Given the description of an element on the screen output the (x, y) to click on. 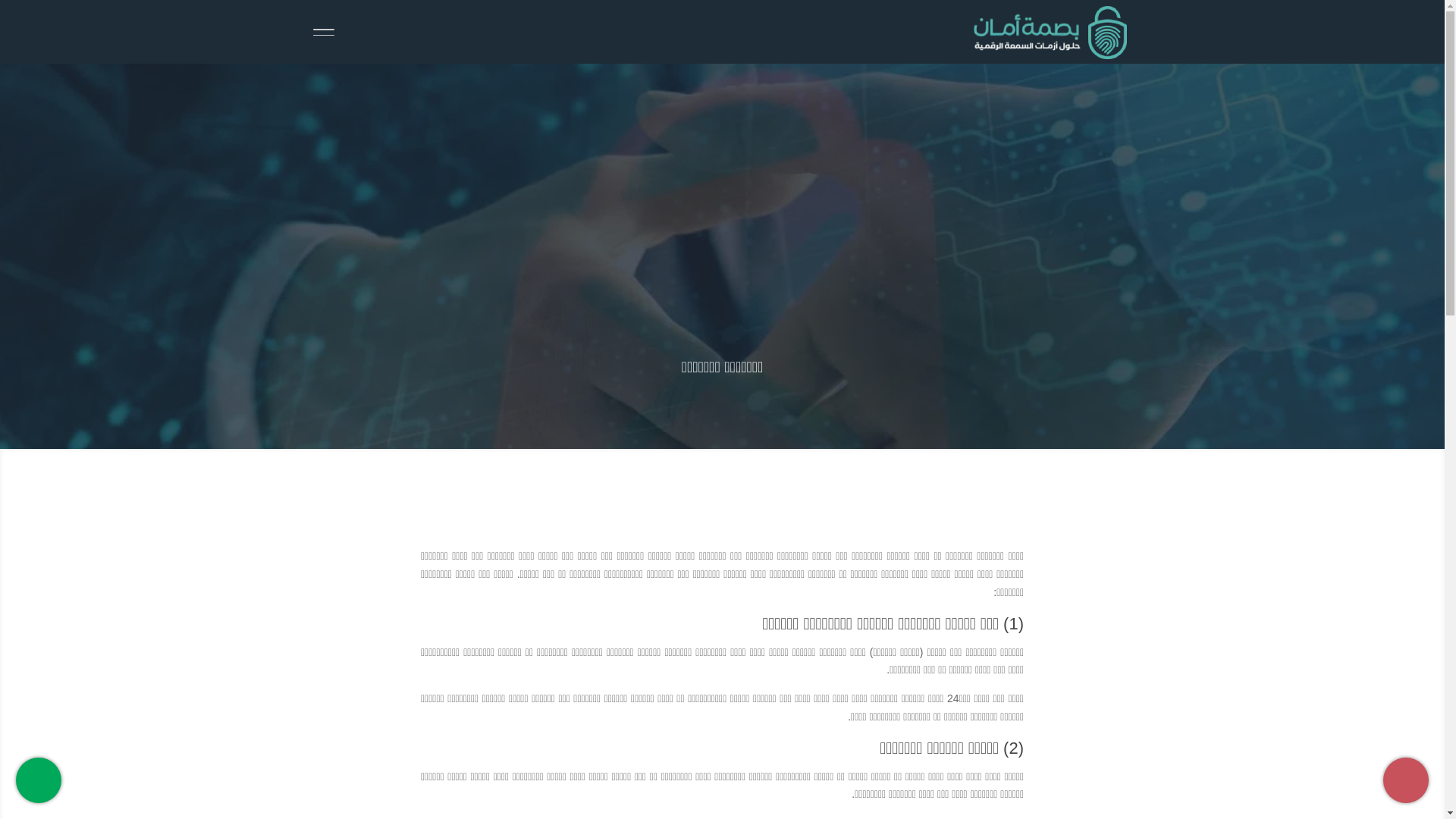
click to call one Element type: hover (1405, 780)
click to chat one Element type: hover (38, 780)
